Given the description of an element on the screen output the (x, y) to click on. 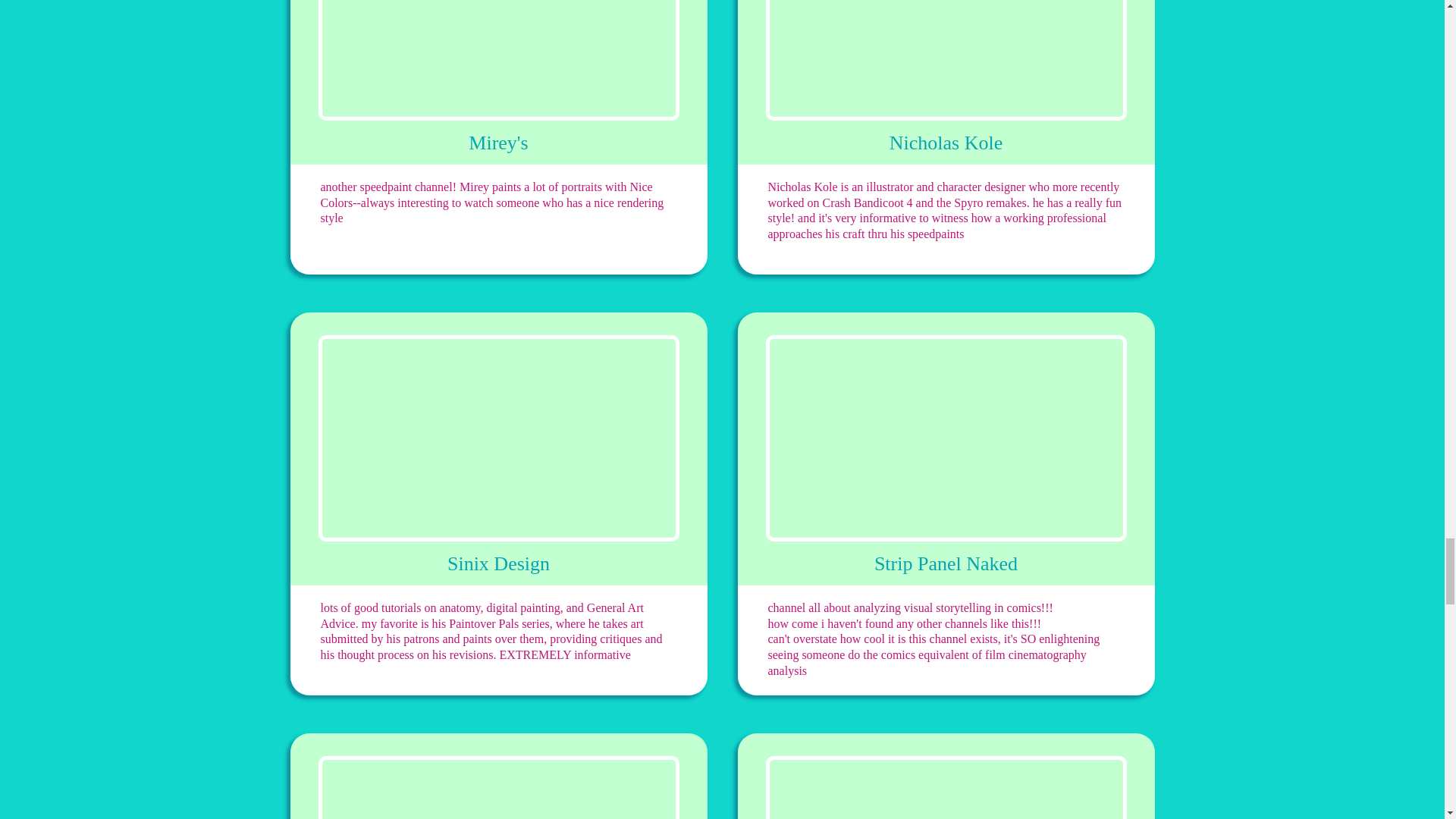
YouTube video player (498, 437)
YouTube video player (498, 60)
YouTube video player (498, 787)
